Given the description of an element on the screen output the (x, y) to click on. 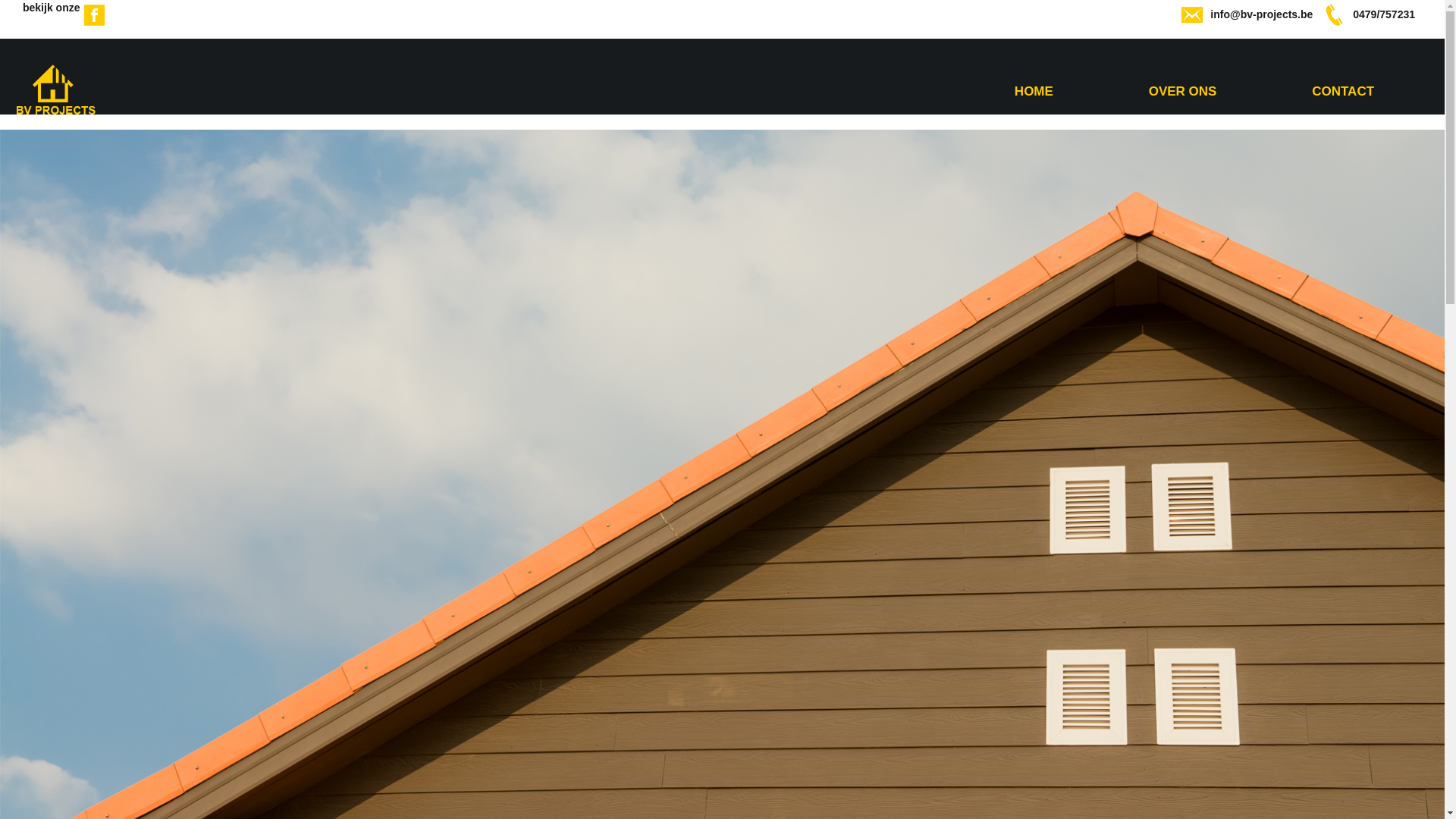
info@bv-projects.be Element type: text (1261, 14)
OVER ONS Element type: text (1182, 90)
HOME Element type: text (1033, 90)
CONTACT Element type: text (1342, 90)
0479/757231 Element type: text (1383, 14)
